Given the description of an element on the screen output the (x, y) to click on. 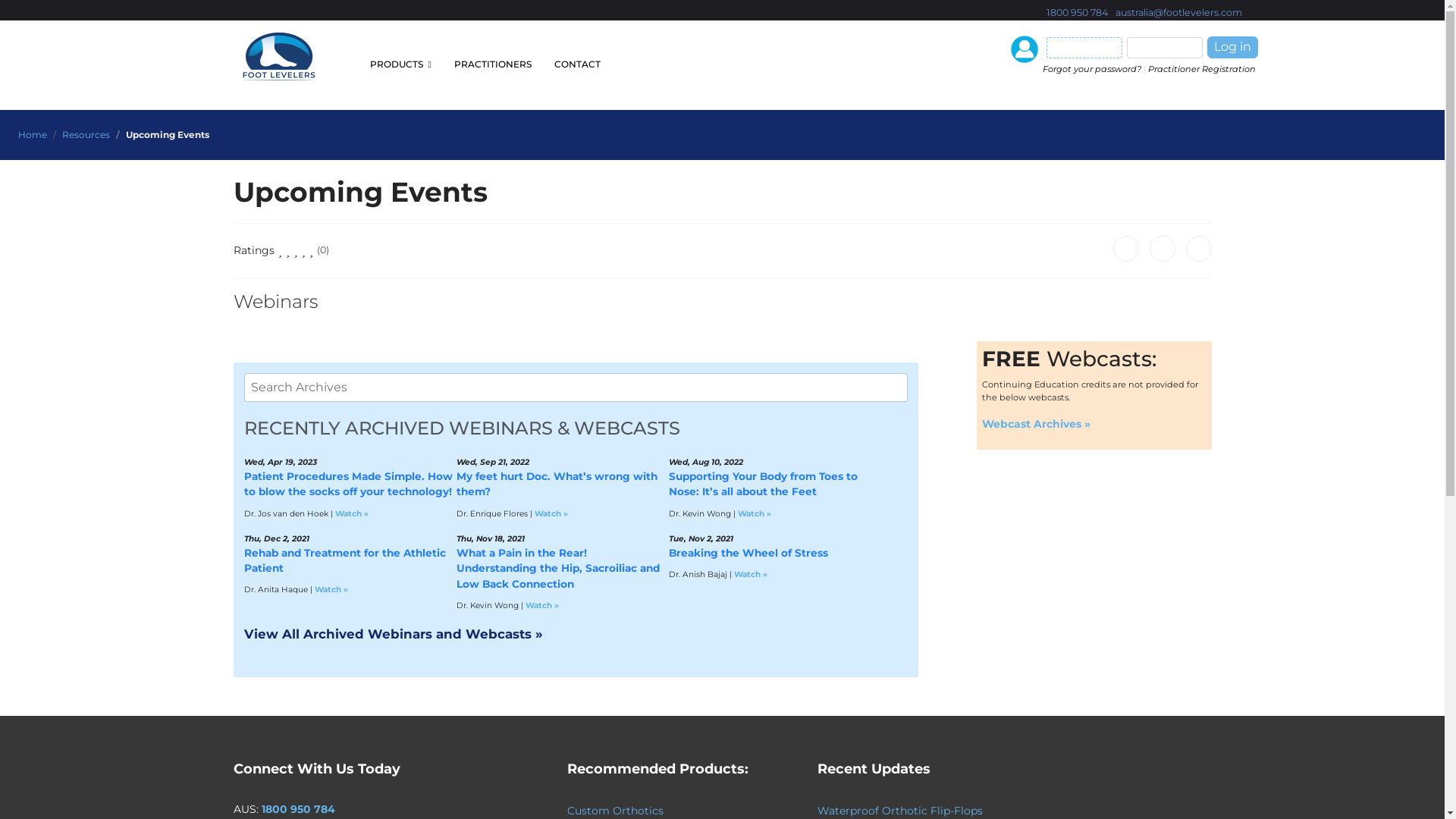
PRODUCTS Element type: text (399, 64)
Breaking the Wheel of Stress Element type: text (748, 553)
LinkedIn Element type: hover (1198, 248)
Forgot your password? Element type: text (1091, 68)
Practitioner Registration Element type: text (1201, 68)
Home Element type: text (32, 134)
Log in Element type: text (1232, 47)
PRACTITIONERS Element type: text (492, 64)
1800 950 784 Element type: text (297, 808)
Doctor login Element type: hover (1026, 48)
Twitter Element type: hover (1162, 248)
CONTACT Element type: text (571, 64)
Doctor login Element type: hover (1024, 48)
Facebook Element type: hover (1126, 248)
Rehab and Treatment for the Athletic Patient Element type: text (344, 561)
Resources Element type: text (85, 134)
1800 950 784 Element type: text (1076, 12)
